Given the description of an element on the screen output the (x, y) to click on. 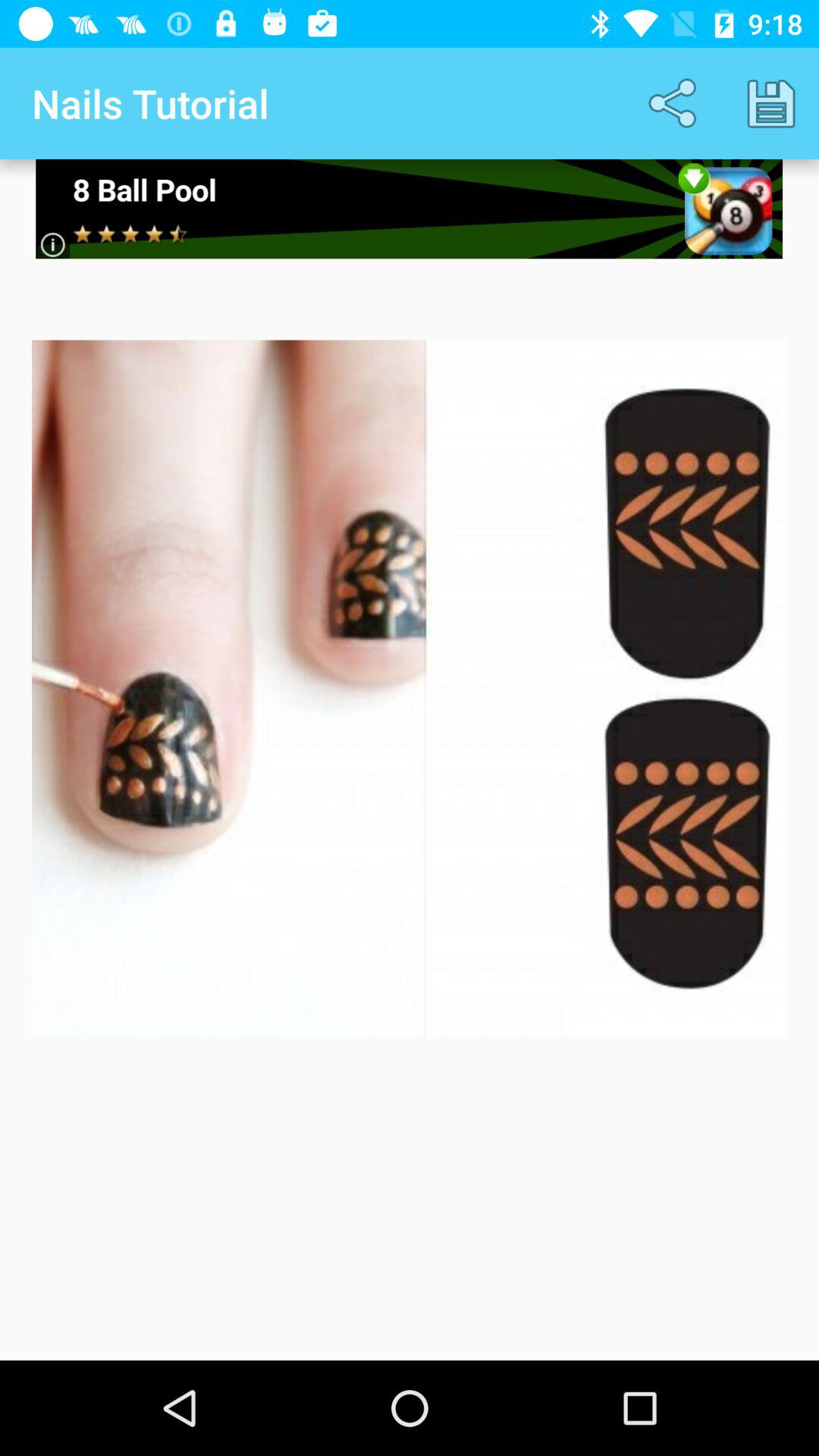
open icon next to nails tutorial app (675, 103)
